Given the description of an element on the screen output the (x, y) to click on. 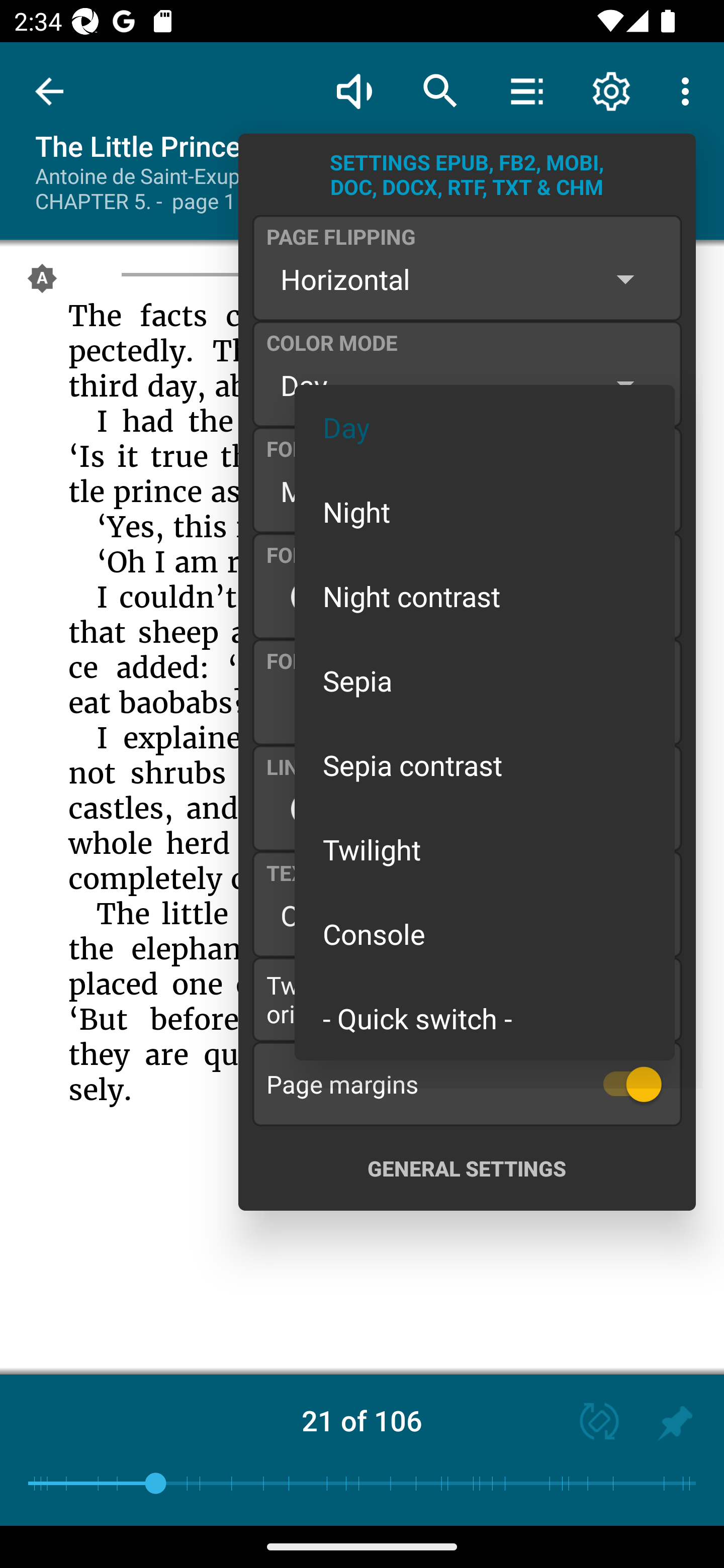
Day (484, 426)
Night (484, 510)
Night contrast (484, 595)
Sepia (484, 680)
Sepia contrast (484, 764)
Twilight (484, 849)
Console (484, 933)
- Quick switch - (484, 1017)
